Given the description of an element on the screen output the (x, y) to click on. 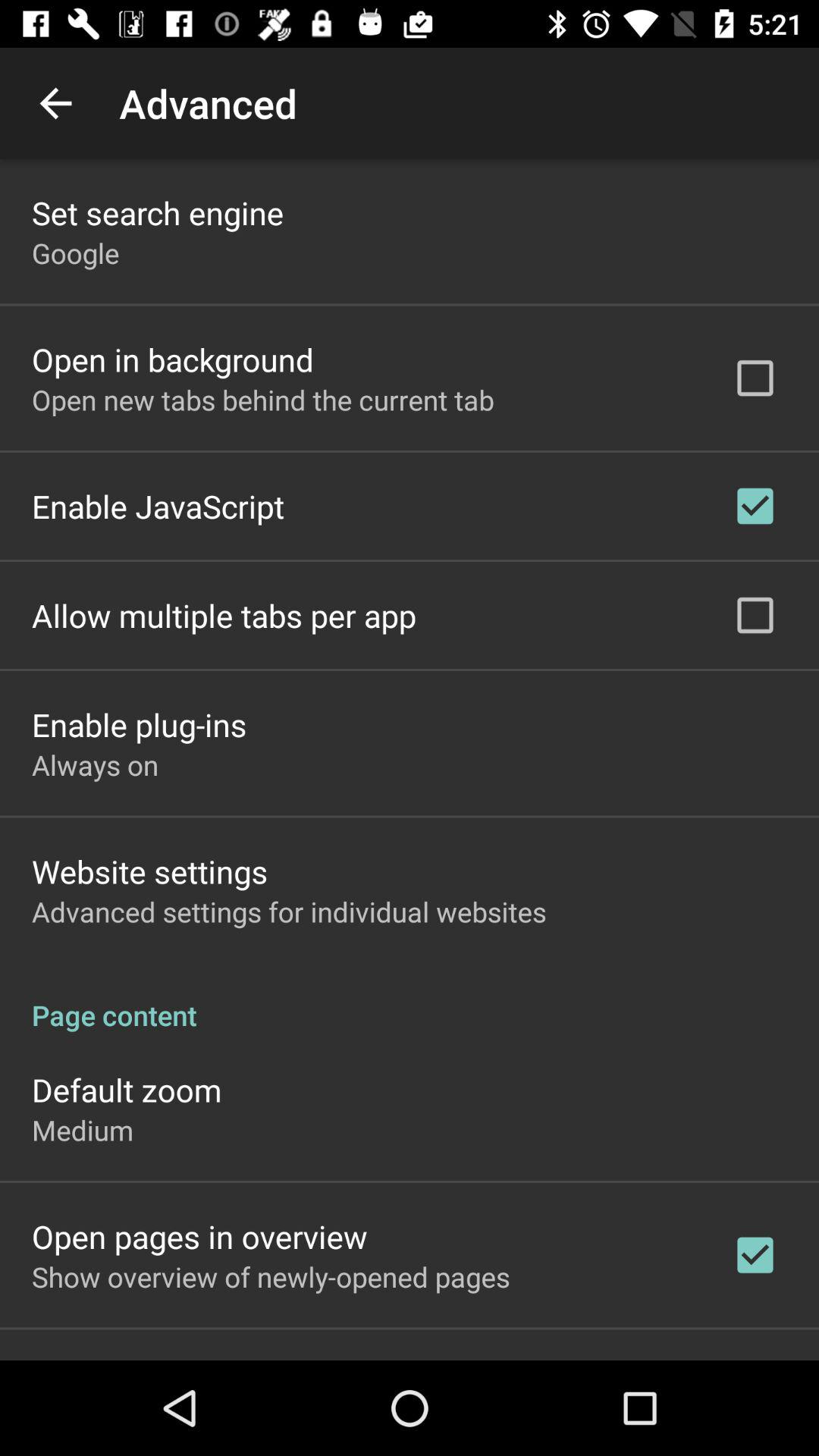
choose item below the open new tabs icon (157, 505)
